Given the description of an element on the screen output the (x, y) to click on. 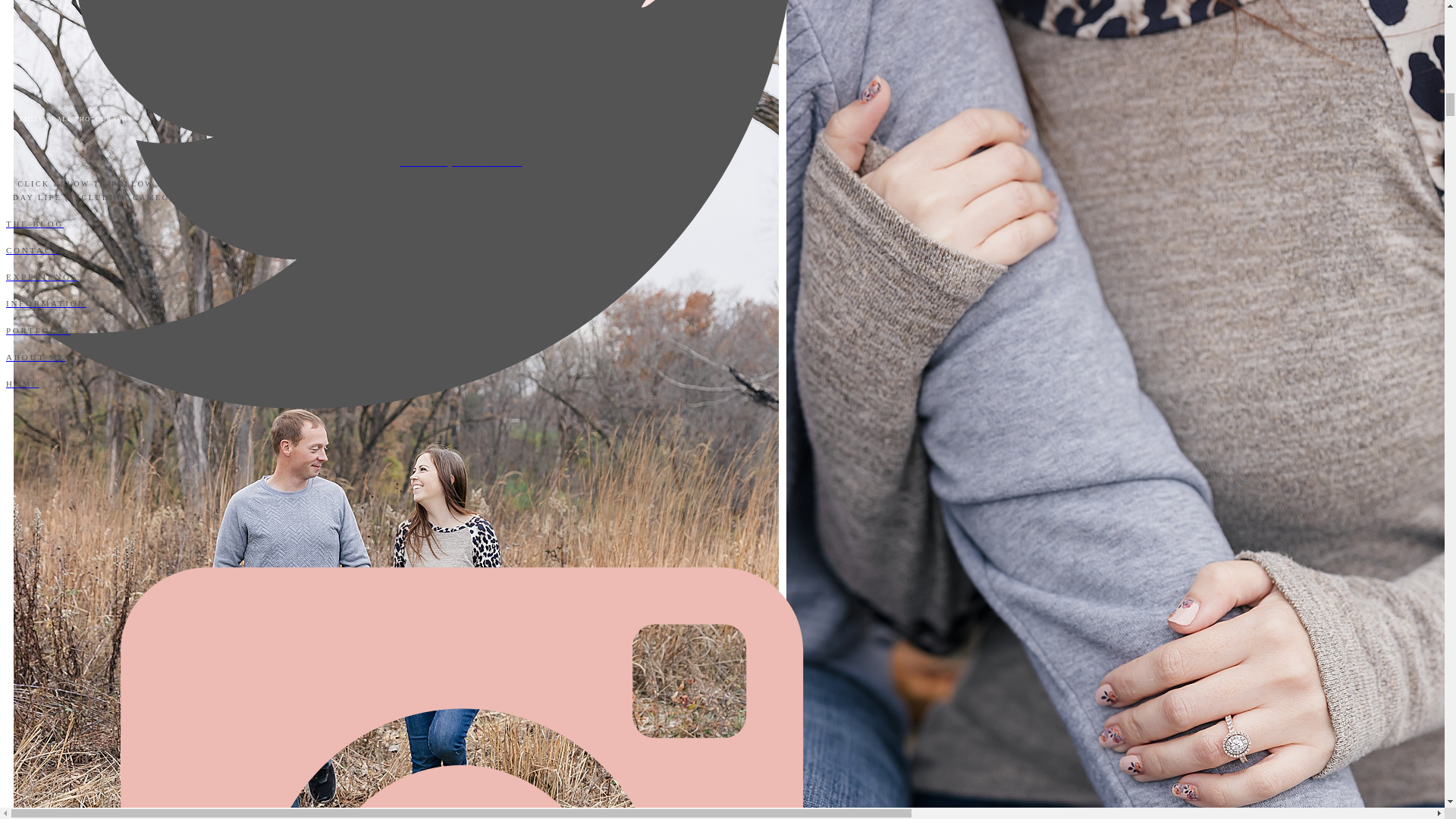
arrow (460, 72)
